Given the description of an element on the screen output the (x, y) to click on. 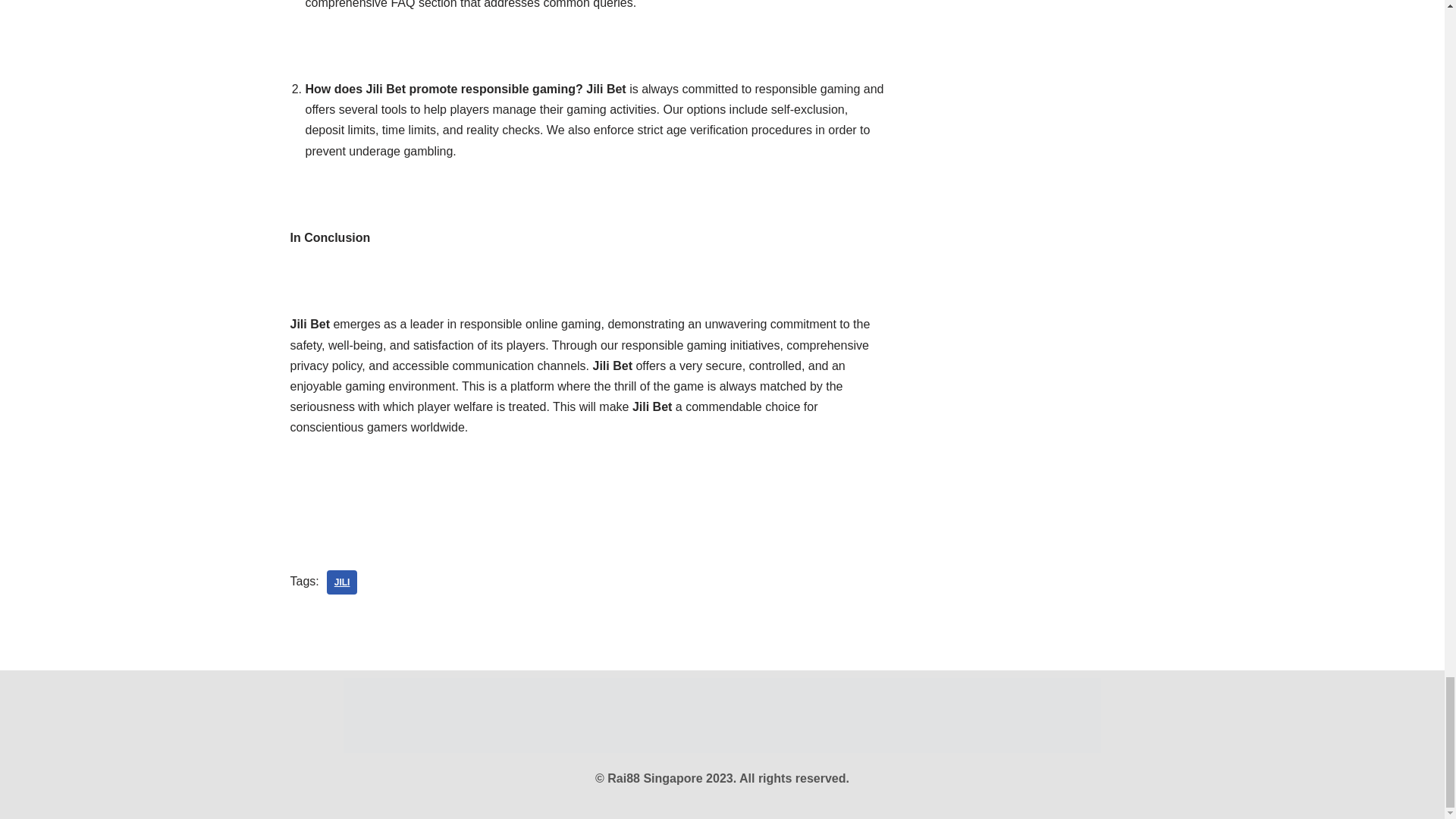
JILI (342, 582)
Jili (342, 582)
